Given the description of an element on the screen output the (x, y) to click on. 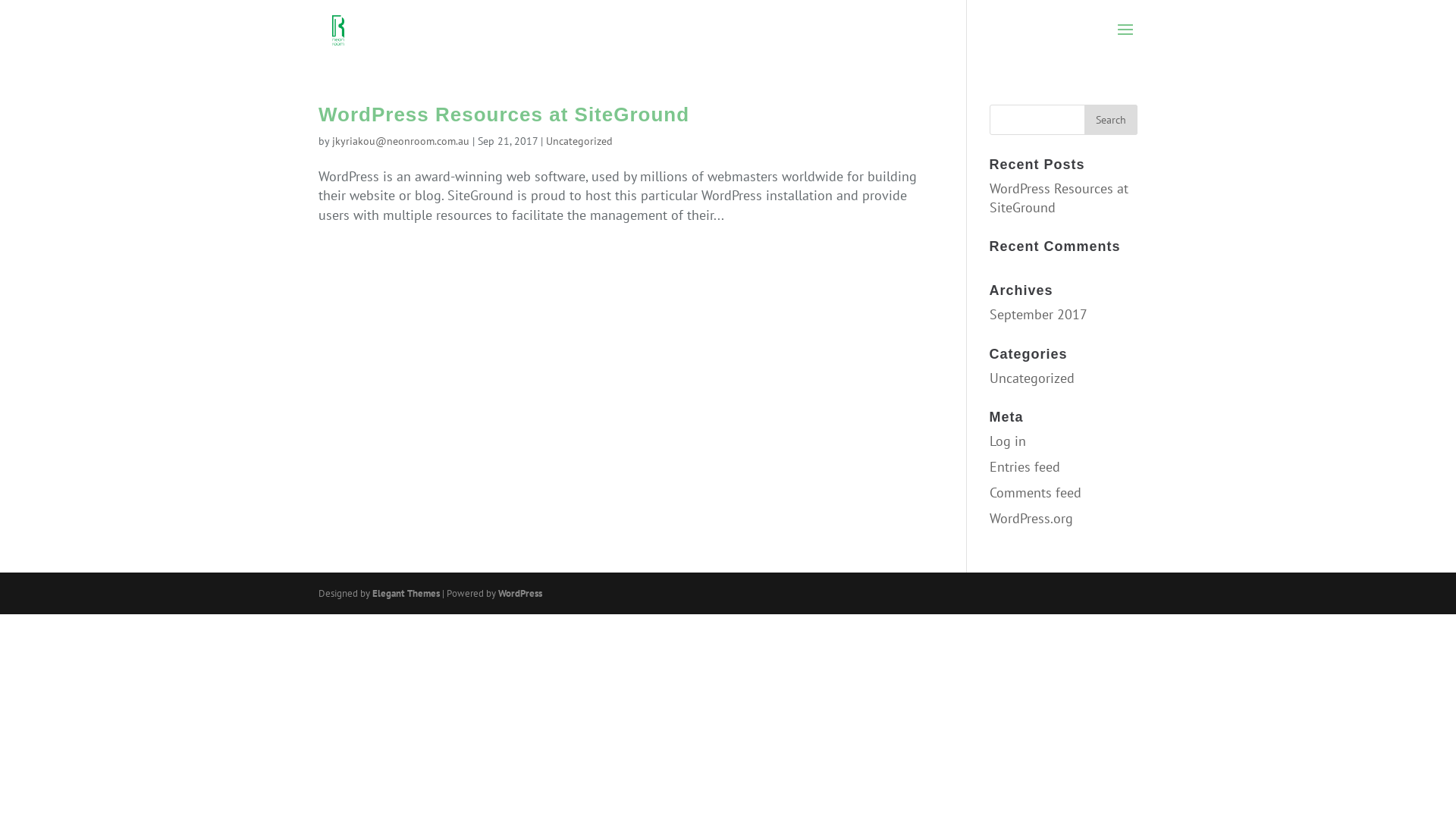
Log in Element type: text (1007, 440)
WordPress Resources at SiteGround Element type: text (1058, 197)
Uncategorized Element type: text (1031, 377)
Comments feed Element type: text (1035, 492)
Search Element type: text (1110, 119)
Entries feed Element type: text (1024, 466)
WordPress.org Element type: text (1031, 518)
jkyriakou@neonroom.com.au Element type: text (400, 140)
September 2017 Element type: text (1038, 314)
Uncategorized Element type: text (579, 140)
WordPress Element type: text (520, 592)
WordPress Resources at SiteGround Element type: text (503, 114)
Elegant Themes Element type: text (405, 592)
